Given the description of an element on the screen output the (x, y) to click on. 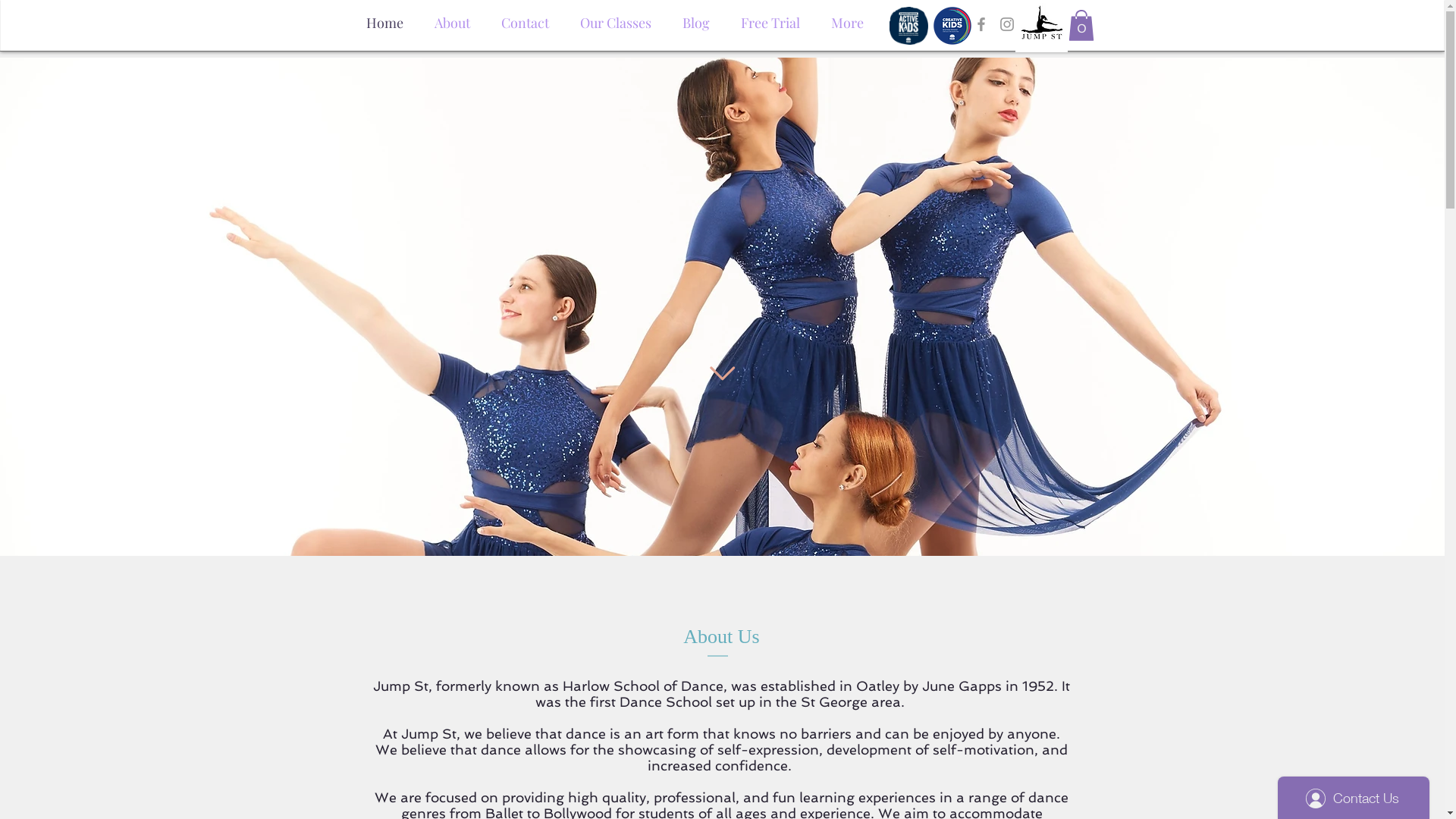
Free Trial Element type: text (769, 18)
Our Classes Element type: text (615, 18)
About Element type: text (451, 18)
Jump st logo email black.jpg Element type: hover (1040, 26)
Home Element type: text (384, 18)
Contact Element type: text (524, 18)
0 Element type: text (1080, 24)
Blog Element type: text (696, 18)
